Given the description of an element on the screen output the (x, y) to click on. 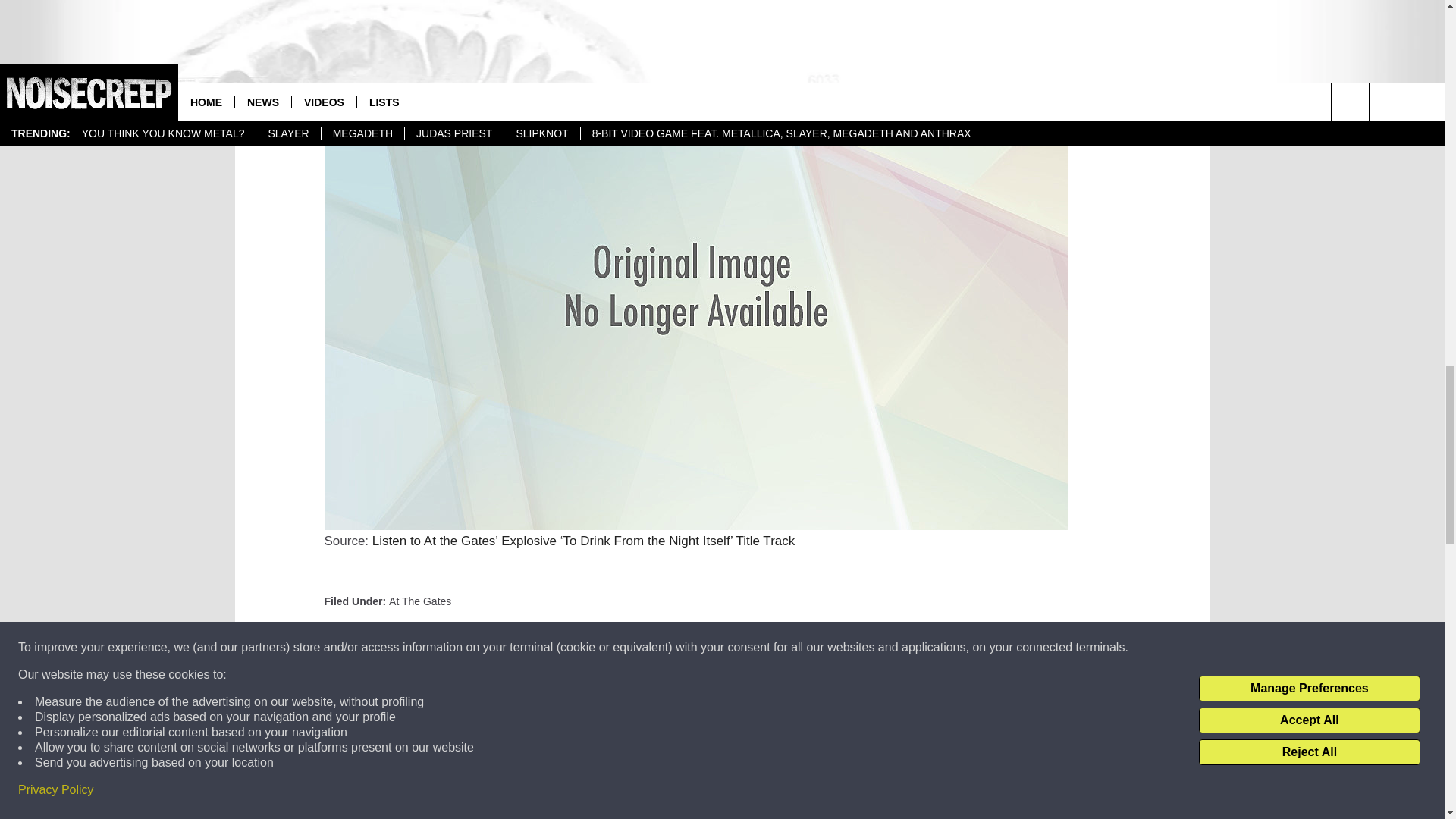
News (398, 625)
At The Gates (419, 601)
